Given the description of an element on the screen output the (x, y) to click on. 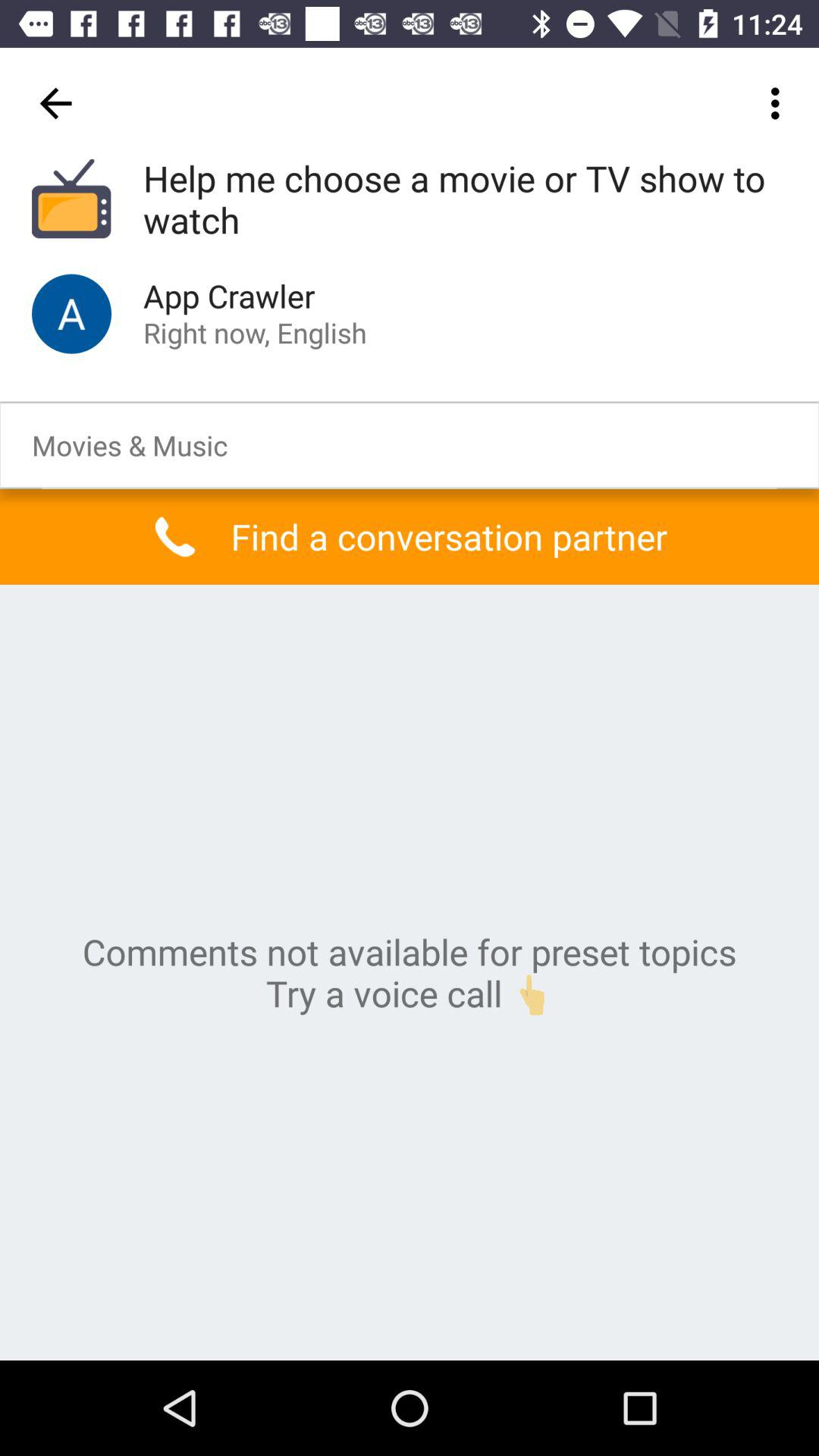
select icon above the help me choose item (779, 103)
